Given the description of an element on the screen output the (x, y) to click on. 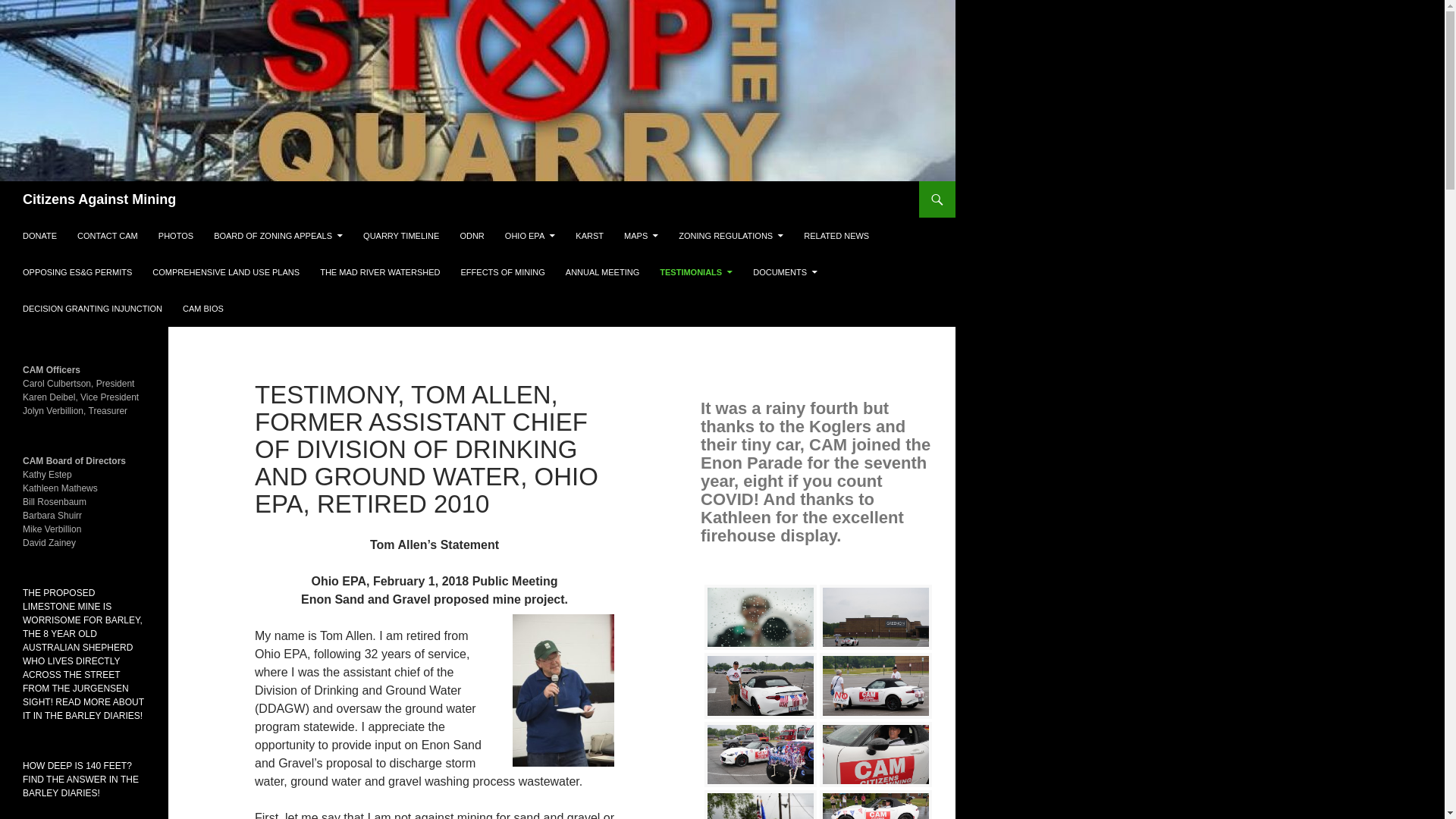
DONATE (39, 235)
ZONING REGULATIONS (730, 235)
ODNR (471, 235)
TESTIMONIALS (695, 271)
EFFECTS OF MINING (502, 271)
MAPS (640, 235)
OHIO EPA (530, 235)
Citizens Against Mining (99, 198)
RELATED NEWS (835, 235)
QUARRY TIMELINE (400, 235)
PHOTOS (175, 235)
KARST (589, 235)
CONTACT CAM (107, 235)
